Given the description of an element on the screen output the (x, y) to click on. 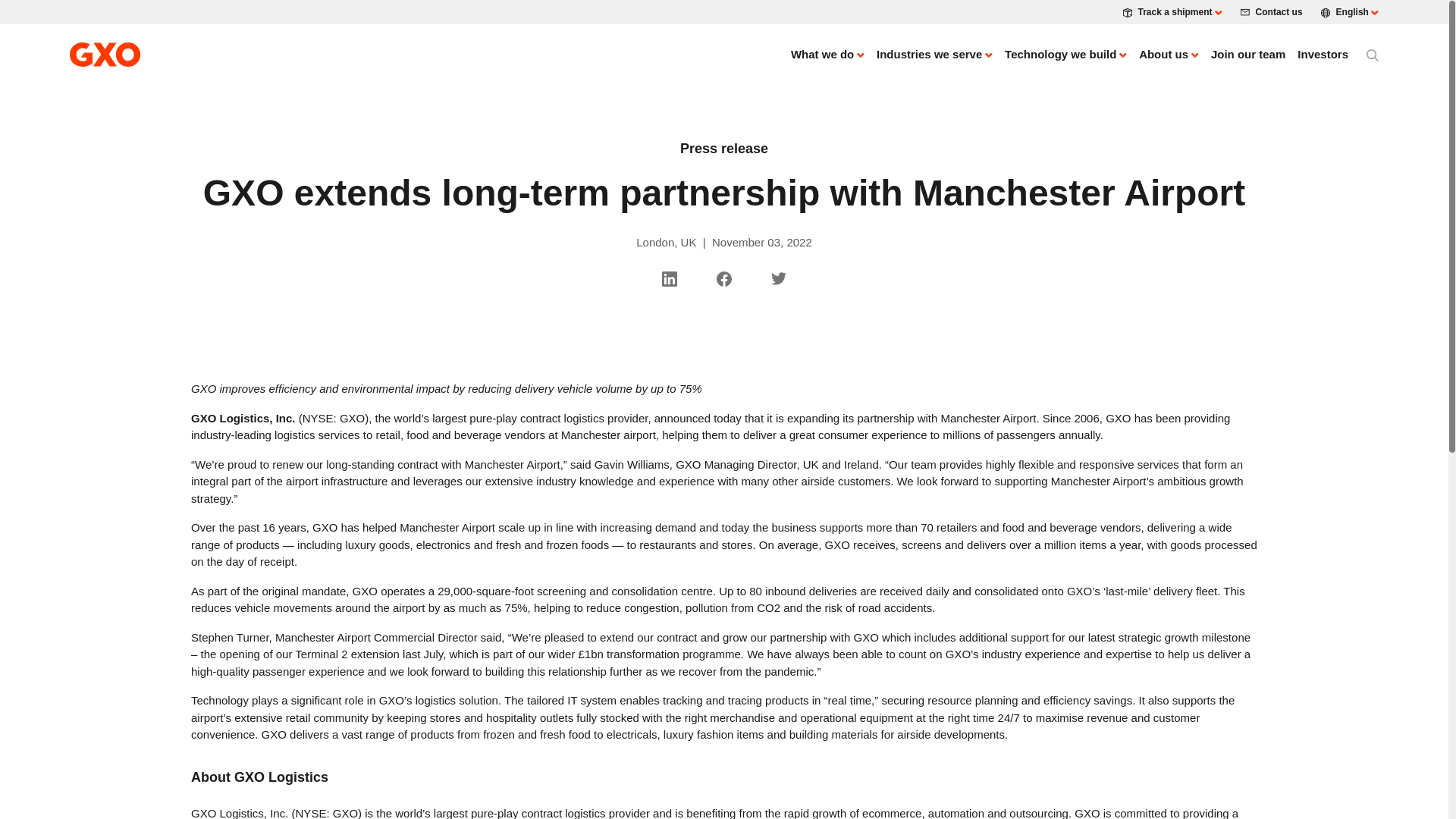
What we do (827, 55)
Industries we serve (934, 55)
Technology we build (1065, 55)
